Given the description of an element on the screen output the (x, y) to click on. 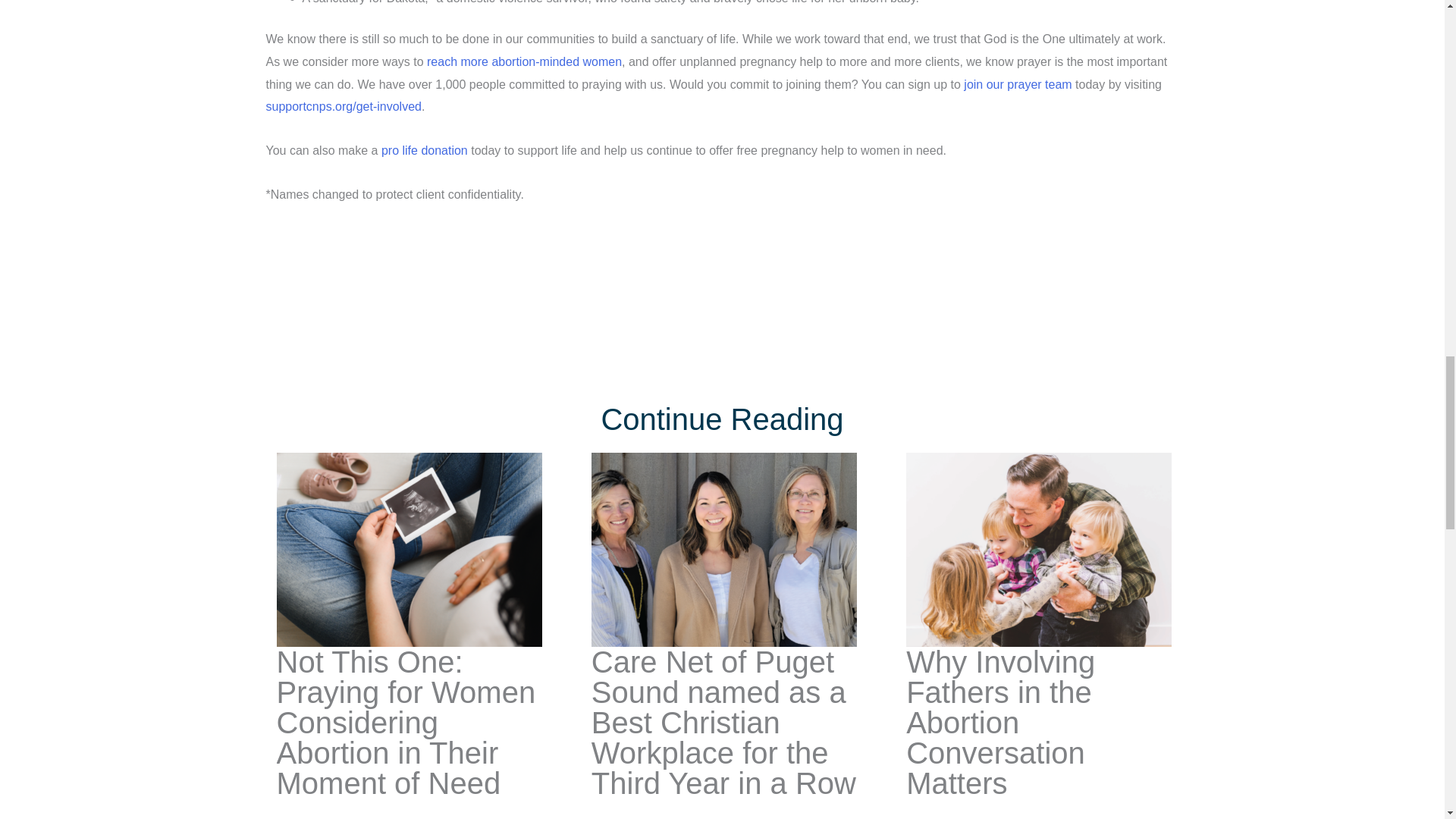
Why Involving Fathers in the Abortion Conversation Matters (1038, 549)
join our prayer team (1017, 83)
Why Involving Fathers in the Abortion Conversation Matters (999, 722)
reach more abortion-minded women (523, 61)
